Given the description of an element on the screen output the (x, y) to click on. 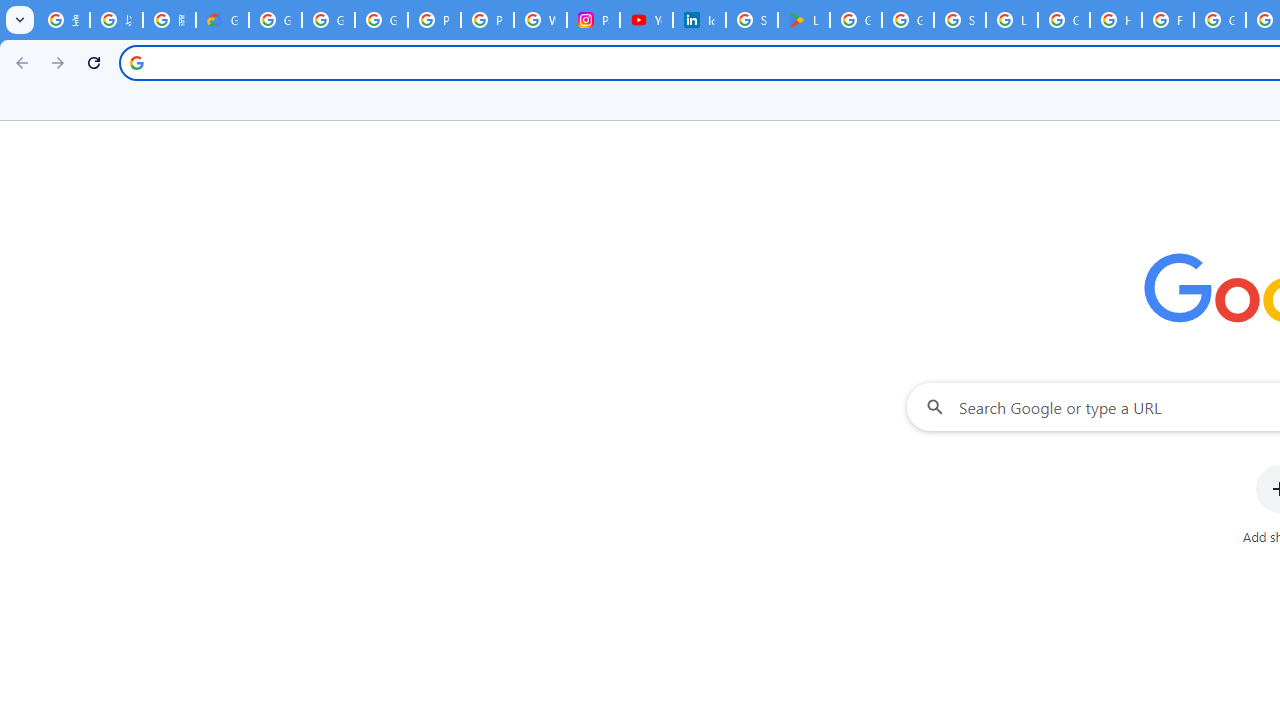
Last Shelter: Survival - Apps on Google Play (803, 20)
Privacy Help Center - Policies Help (487, 20)
How do I create a new Google Account? - Google Account Help (1115, 20)
Google Workspace - Specific Terms (907, 20)
